Given the description of an element on the screen output the (x, y) to click on. 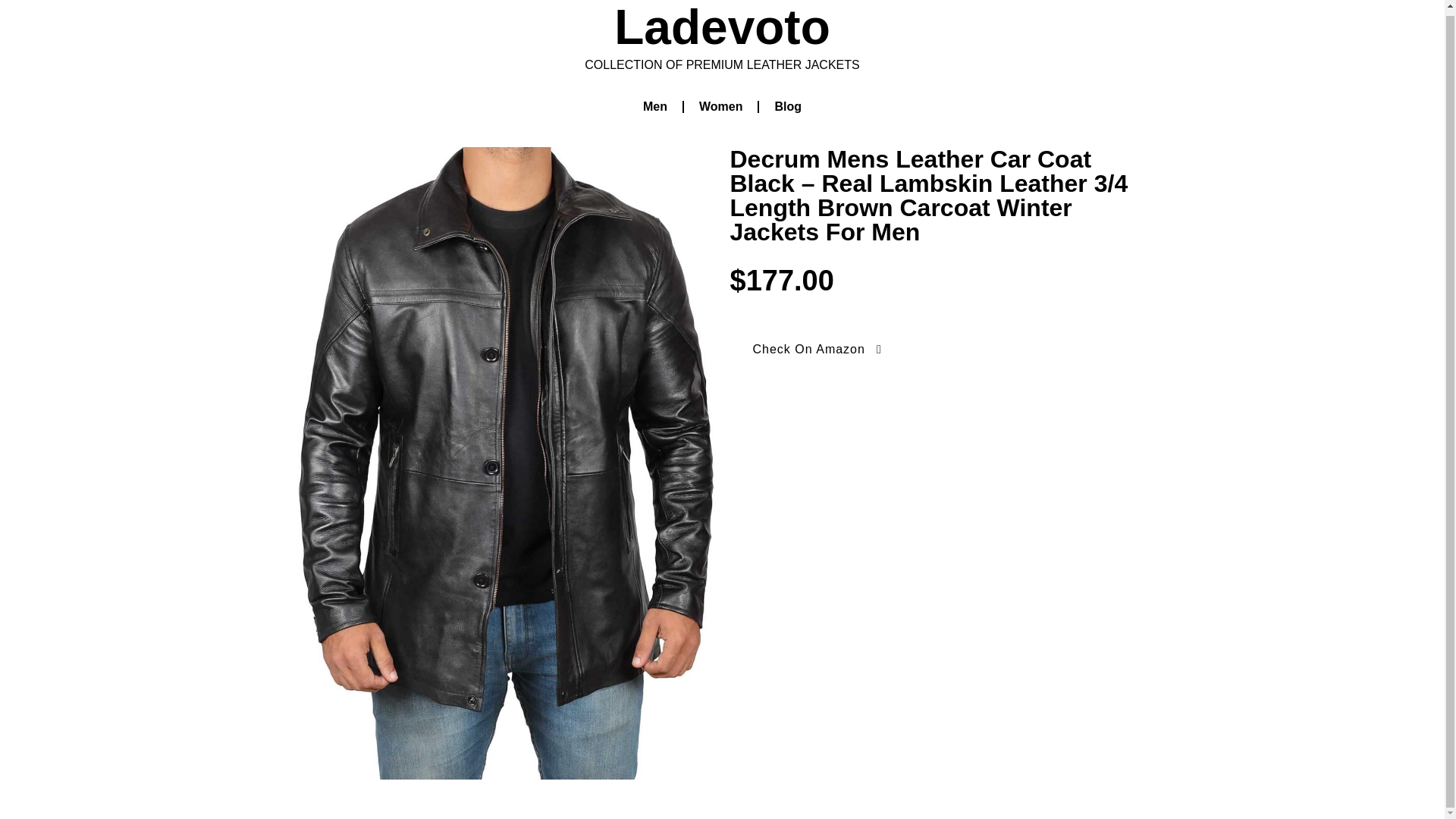
TERMS OF SERVICES (1074, 751)
AFFILIATE DISCLOSURE (1066, 786)
Check on Amazon (576, 443)
Check on Amazon (359, 415)
PRIVACY POLICY (941, 751)
